Given the description of an element on the screen output the (x, y) to click on. 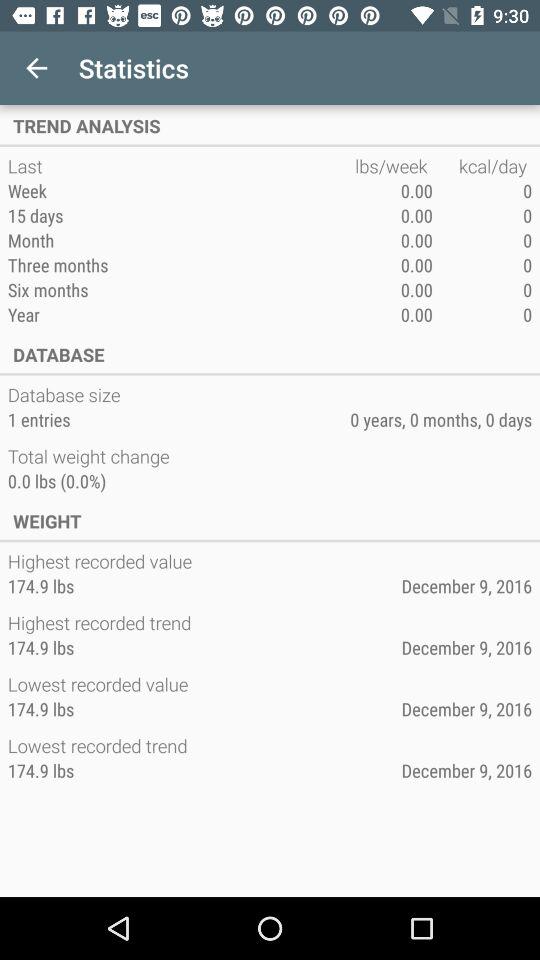
select the app next to the kcal/day icon (393, 165)
